Given the description of an element on the screen output the (x, y) to click on. 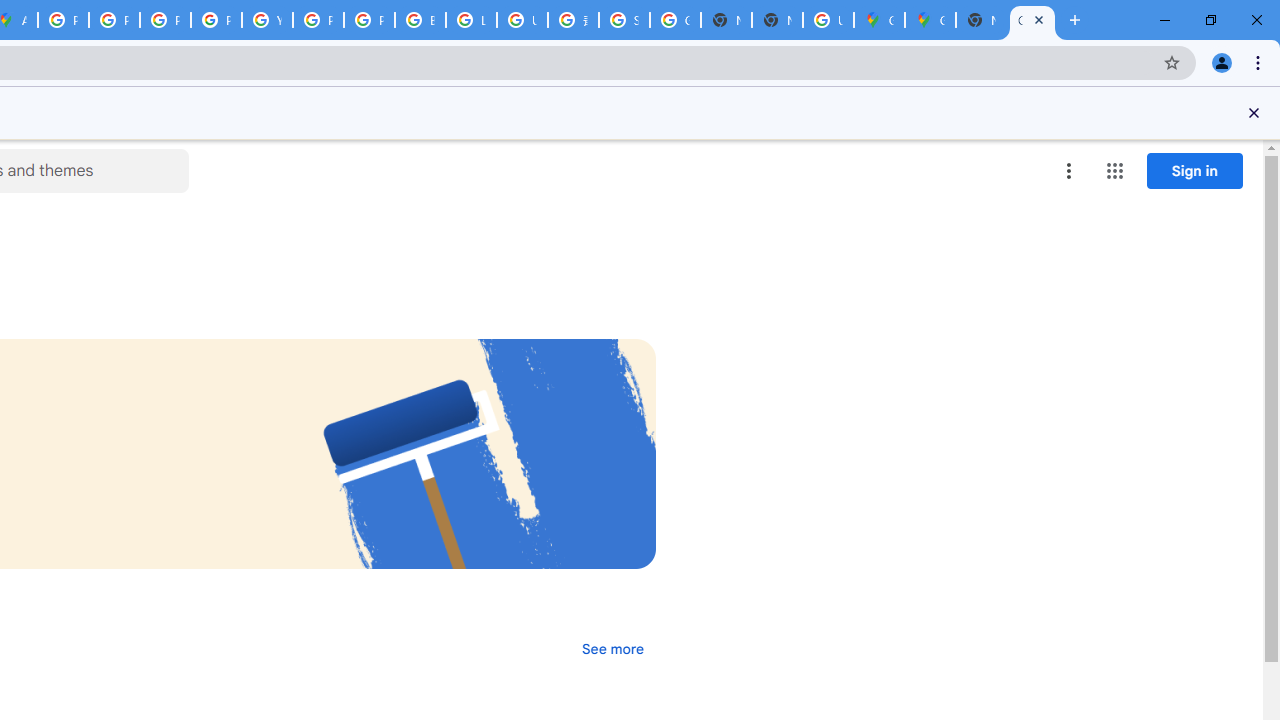
More options menu (1069, 170)
Use Google Maps in Space - Google Maps Help (827, 20)
New Tab (776, 20)
Google Maps (878, 20)
Policy Accountability and Transparency - Transparency Center (63, 20)
New Tab (981, 20)
YouTube (267, 20)
Sign in - Google Accounts (624, 20)
